Given the description of an element on the screen output the (x, y) to click on. 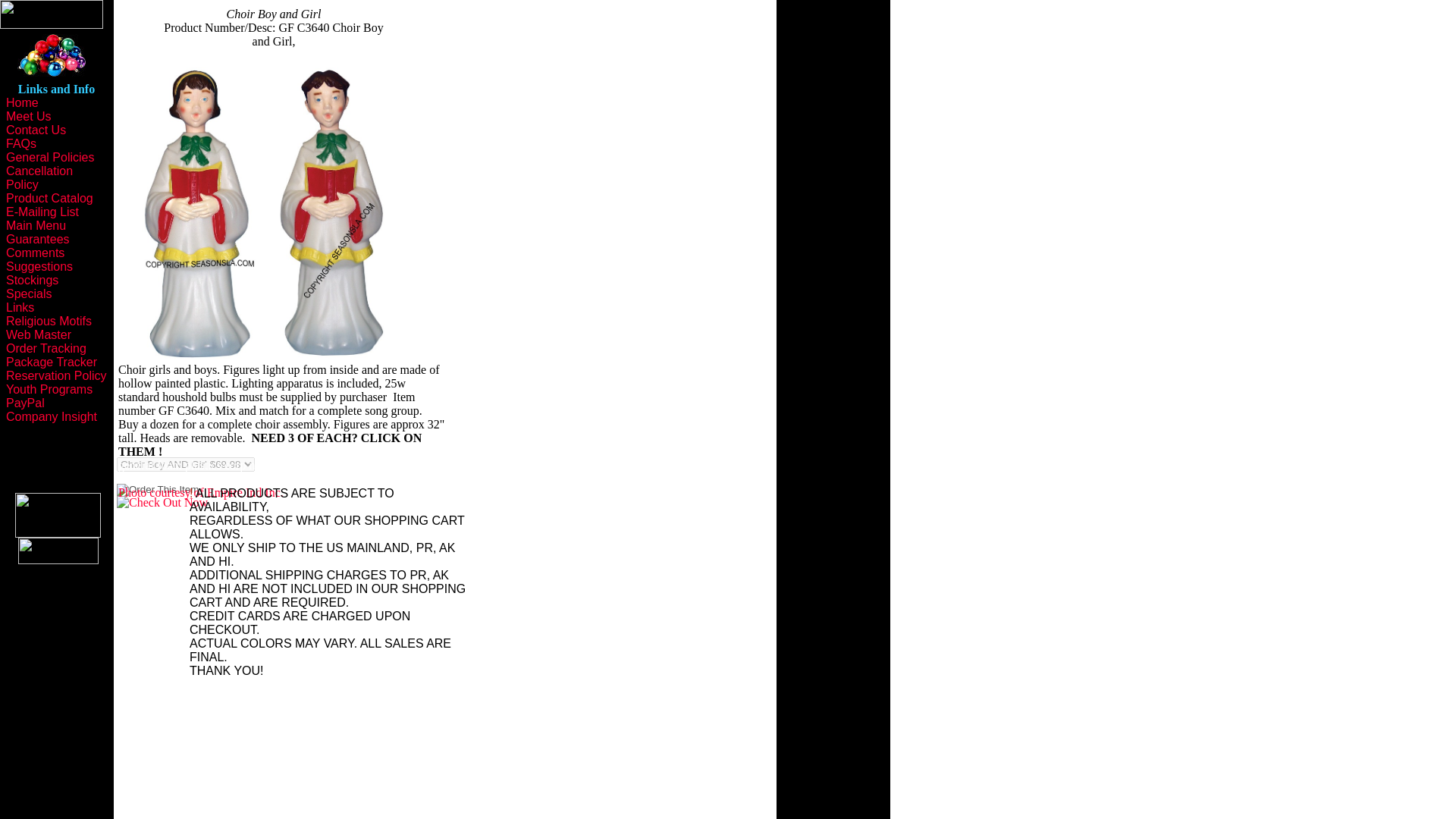
Main Menu (35, 225)
Company Insight (51, 416)
Suggestions (38, 266)
Reservation Policy (55, 375)
PayPal (25, 402)
Cancellation Policy (38, 177)
Order Tracking (45, 348)
Contact Us (35, 129)
Links (19, 307)
Specials (27, 293)
Package Tracker (51, 361)
Meet Us (27, 115)
Product Catalog (49, 197)
Comments (34, 252)
Youth Programs (49, 389)
